Given the description of an element on the screen output the (x, y) to click on. 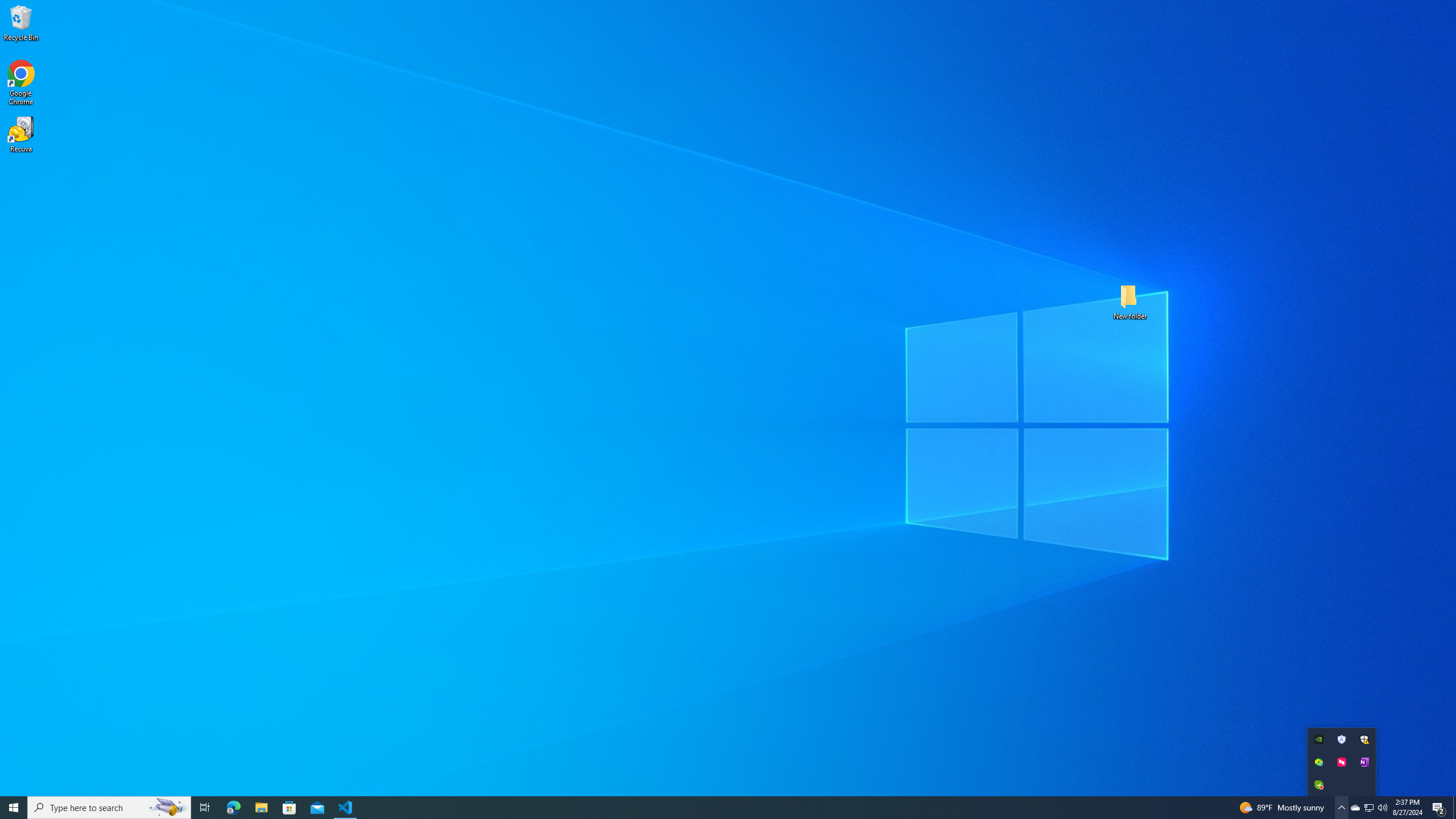
NVIDIA Settings (1318, 739)
Action Center, 2 new notifications (1439, 807)
Windows Security - Actions recommended. (1363, 739)
New quick note (1363, 762)
